Given the description of an element on the screen output the (x, y) to click on. 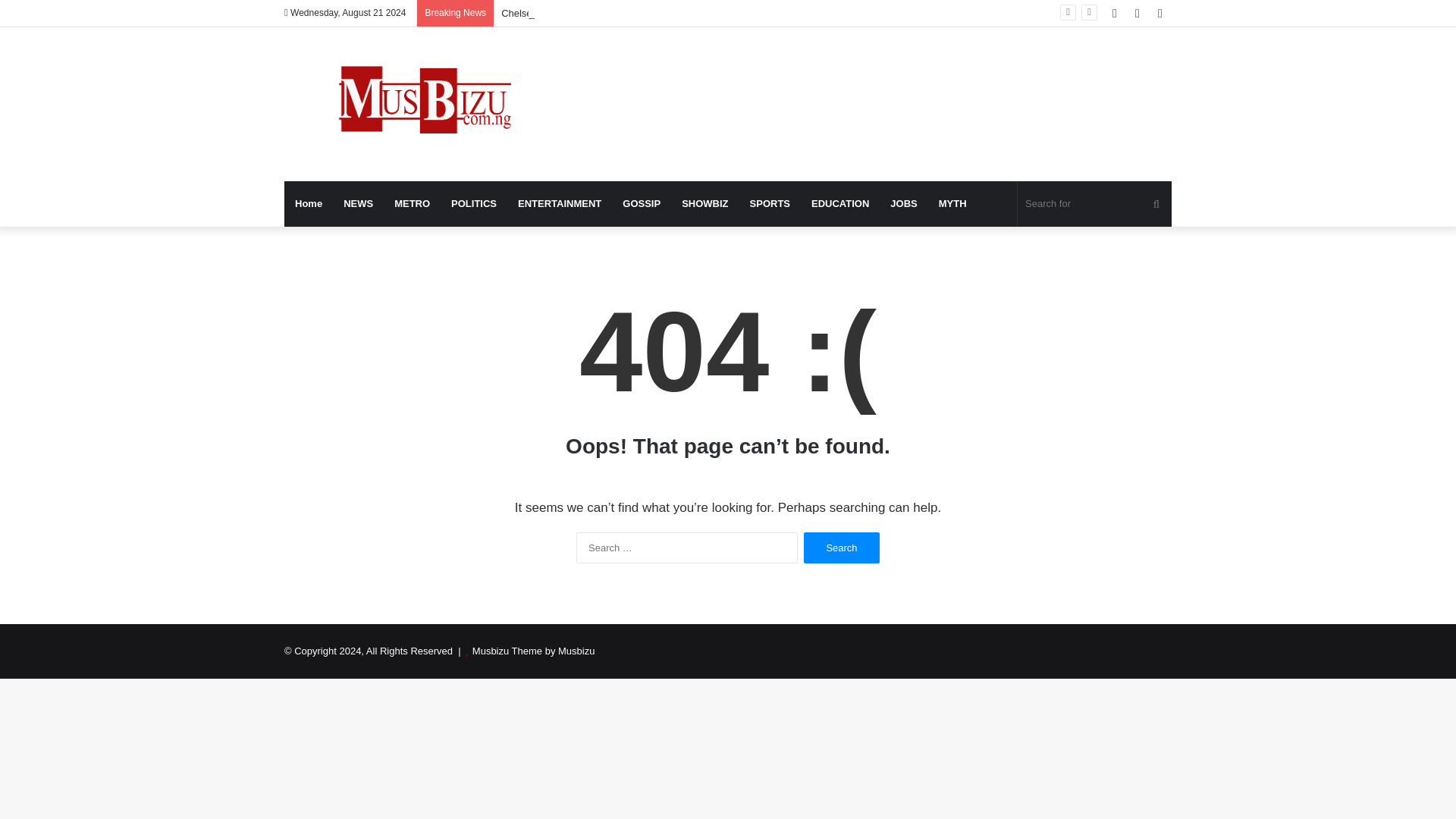
POLITICS (473, 203)
Search (841, 547)
Search for (1094, 203)
EDUCATION (839, 203)
ENTERTAINMENT (558, 203)
Home (308, 203)
Search (841, 547)
GOSSIP (641, 203)
JOBS (903, 203)
MYTH (952, 203)
